Given the description of an element on the screen output the (x, y) to click on. 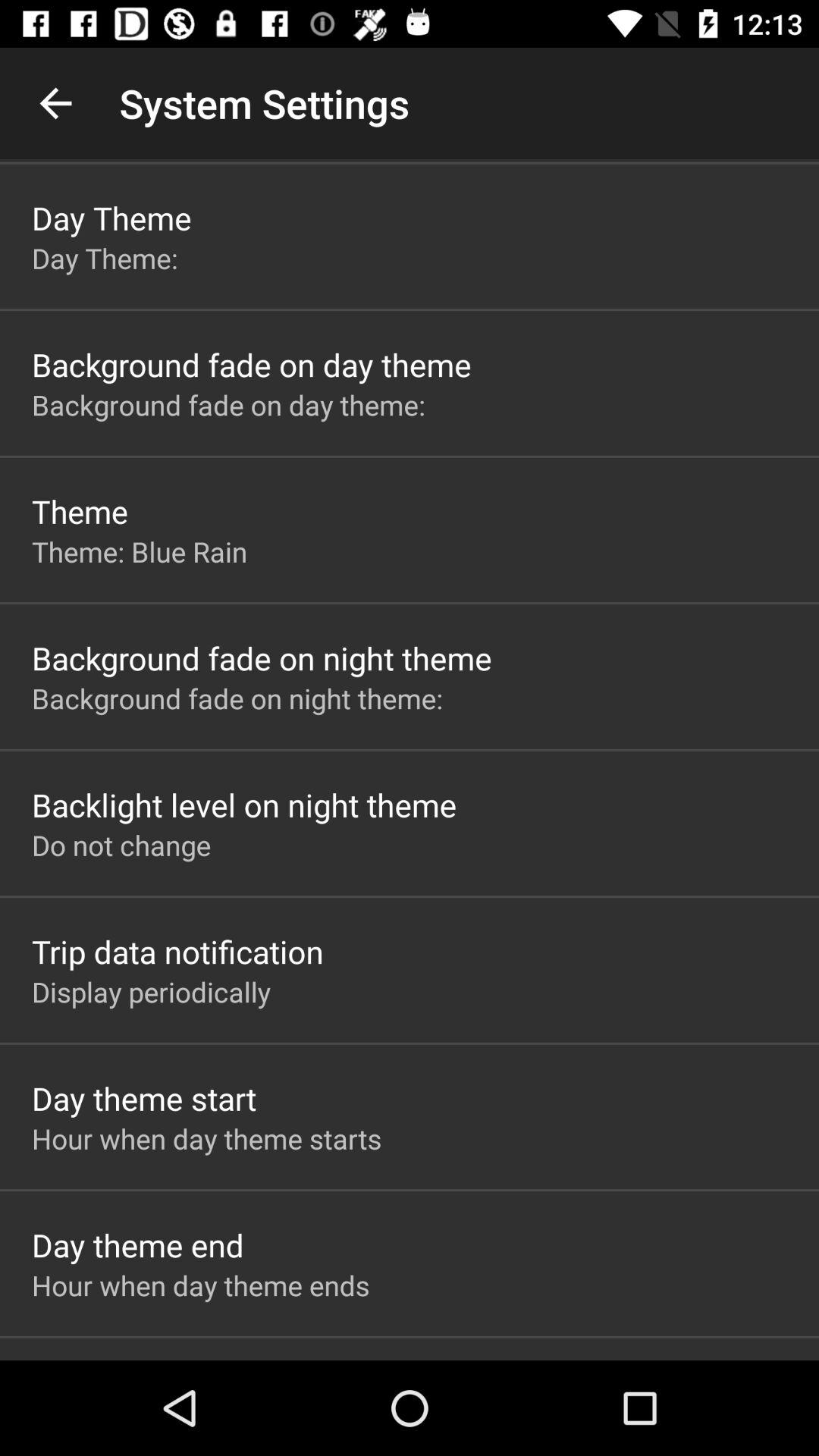
launch icon below do not change icon (177, 951)
